Given the description of an element on the screen output the (x, y) to click on. 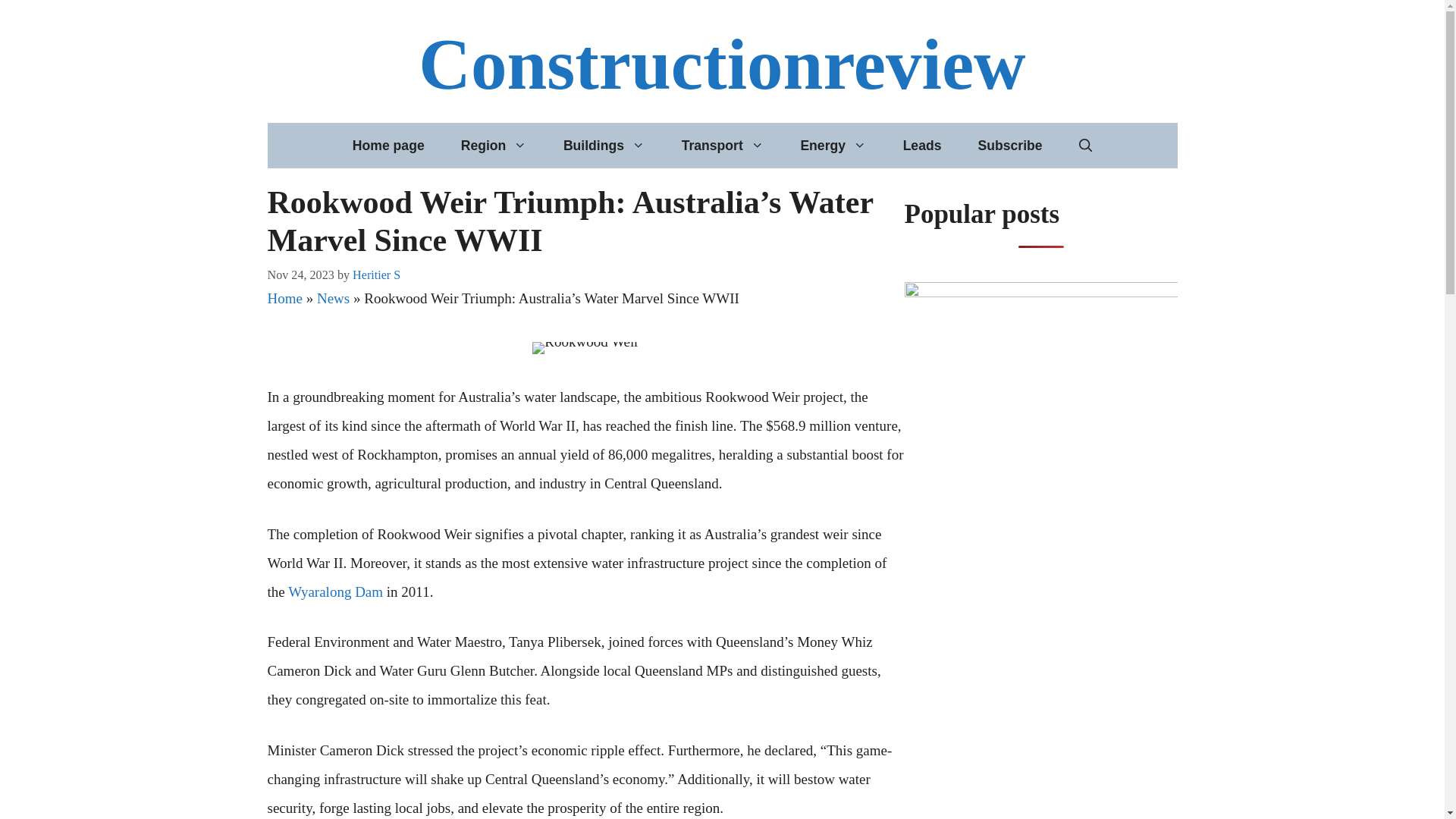
View all posts by Heritier S (376, 274)
Buildings (603, 145)
Transport (723, 145)
Leads (922, 145)
Subscribe (1009, 145)
Home page (388, 145)
Constructionreview (722, 64)
Energy (832, 145)
Region (493, 145)
